Given the description of an element on the screen output the (x, y) to click on. 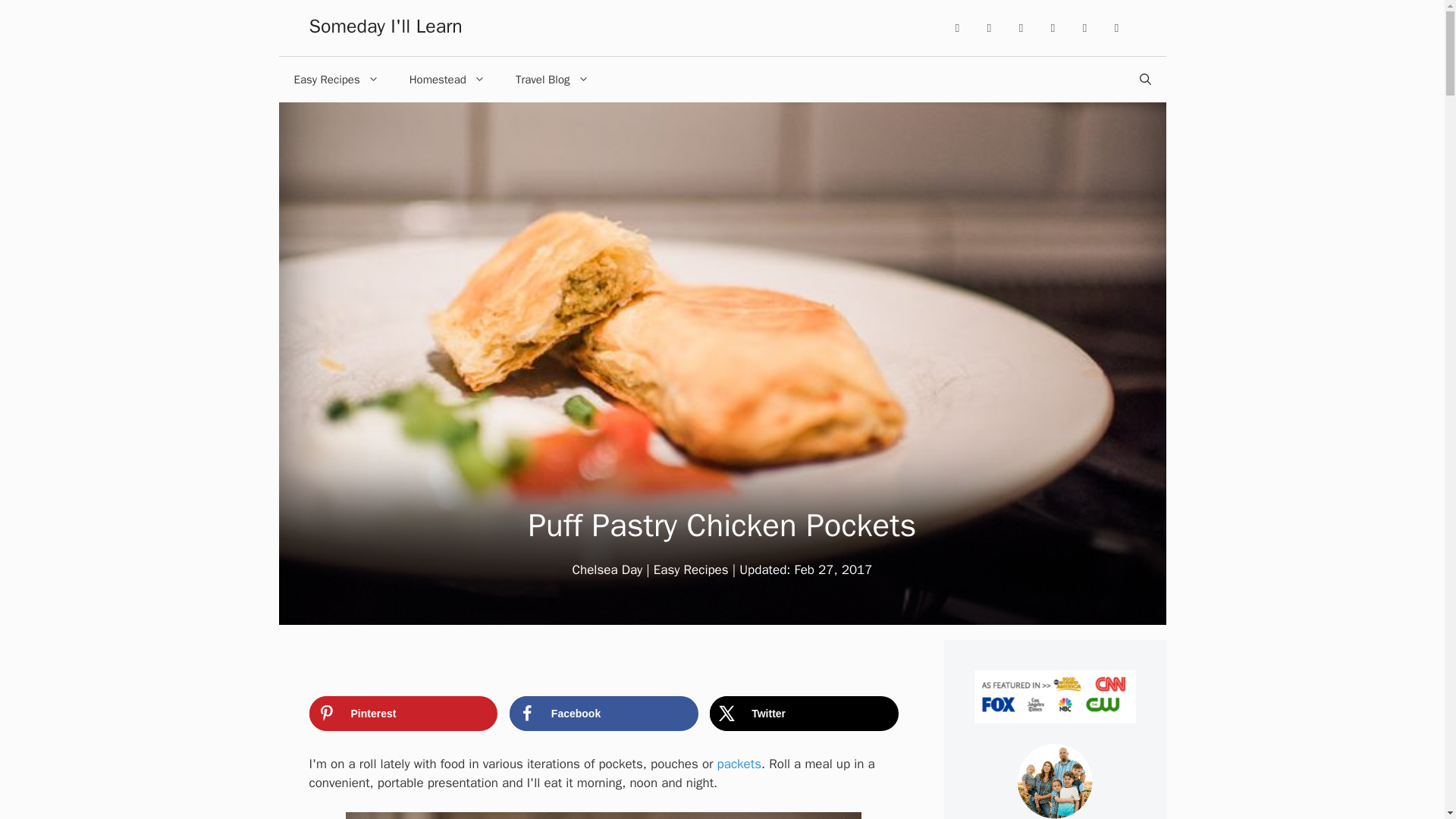
Someday I'll Learn (385, 25)
Easy Recipes (691, 569)
Pinterest (402, 713)
View all posts by Chelsea Day (607, 569)
RSS (1116, 27)
Homestead (447, 79)
Share on X (804, 713)
Twitter (804, 713)
Share on Facebook (603, 713)
Travel Blog (552, 79)
Facebook (603, 713)
Pinterest (989, 27)
Facebook (1021, 27)
packets (739, 763)
Easy Recipes (336, 79)
